Given the description of an element on the screen output the (x, y) to click on. 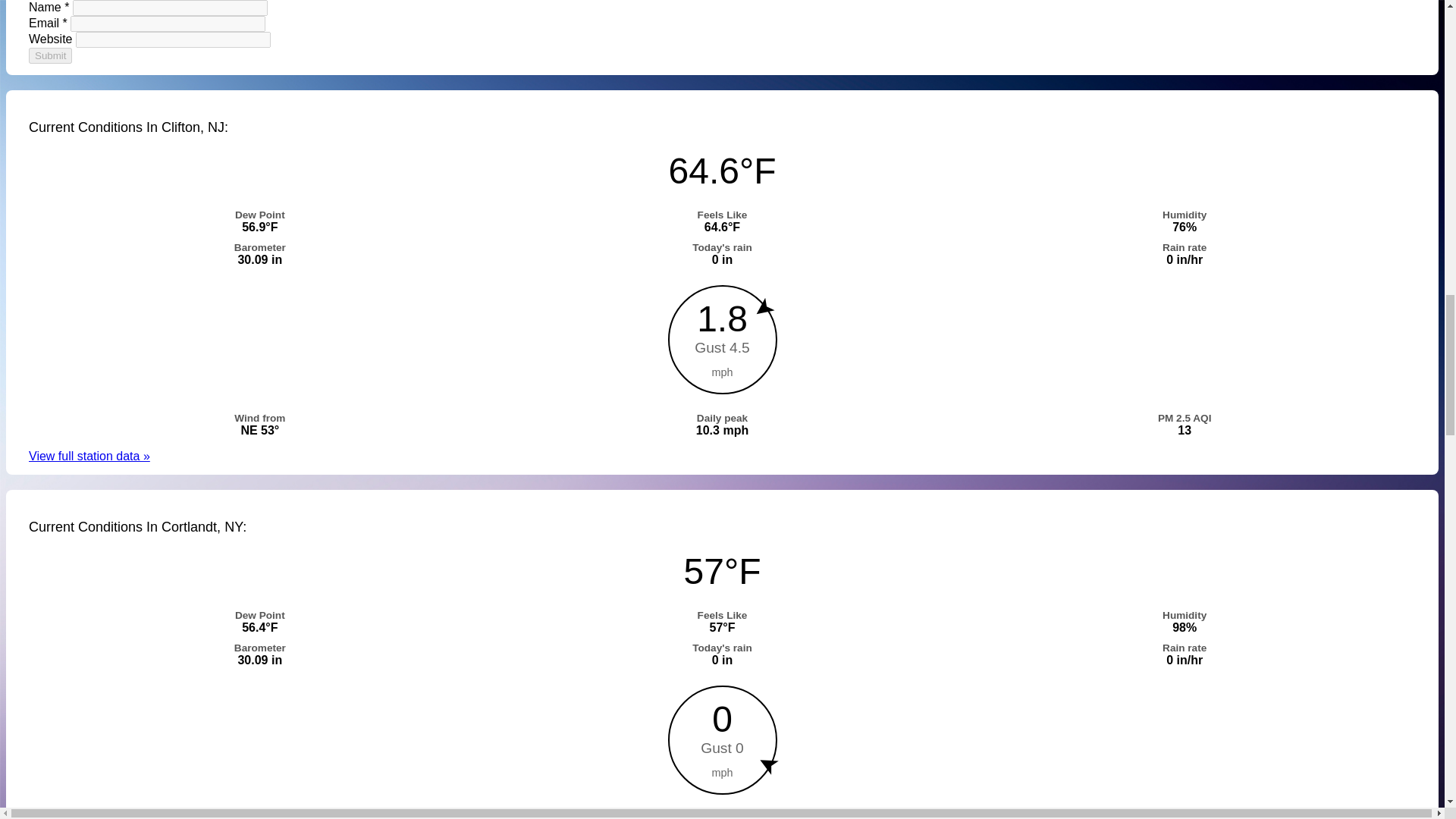
Submit (50, 55)
